Given the description of an element on the screen output the (x, y) to click on. 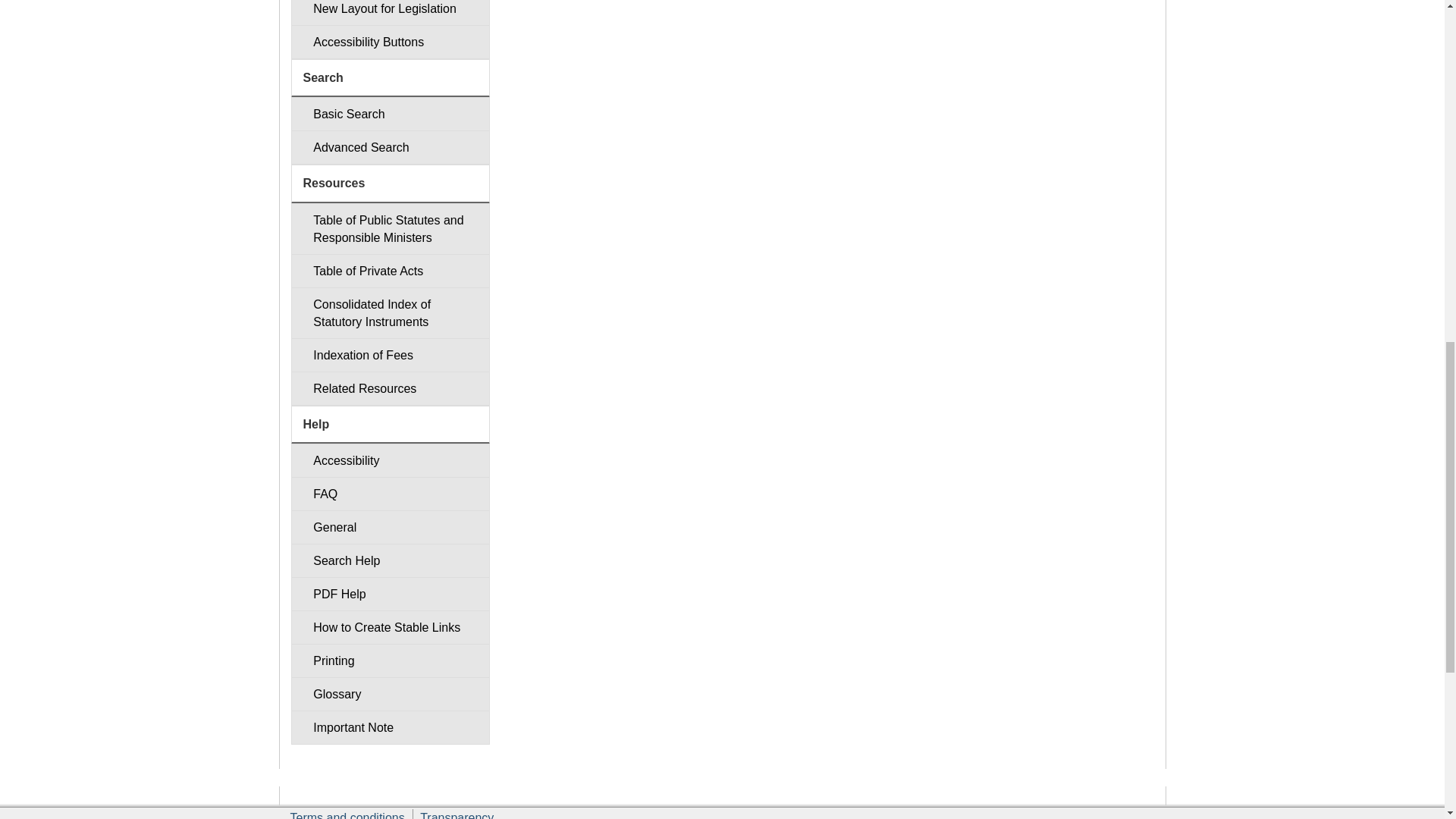
Table of Public Statutes and Responsible Ministers (390, 228)
Advanced Search (390, 147)
Printing Help (390, 660)
Indexation of Fees (390, 355)
Consolidated Index of Statutory Instruments (390, 313)
General Help (390, 527)
Related Resources (390, 388)
Basic Search (390, 114)
Frequently Asked Questions (390, 493)
New Layout for Legislation (390, 12)
